Given the description of an element on the screen output the (x, y) to click on. 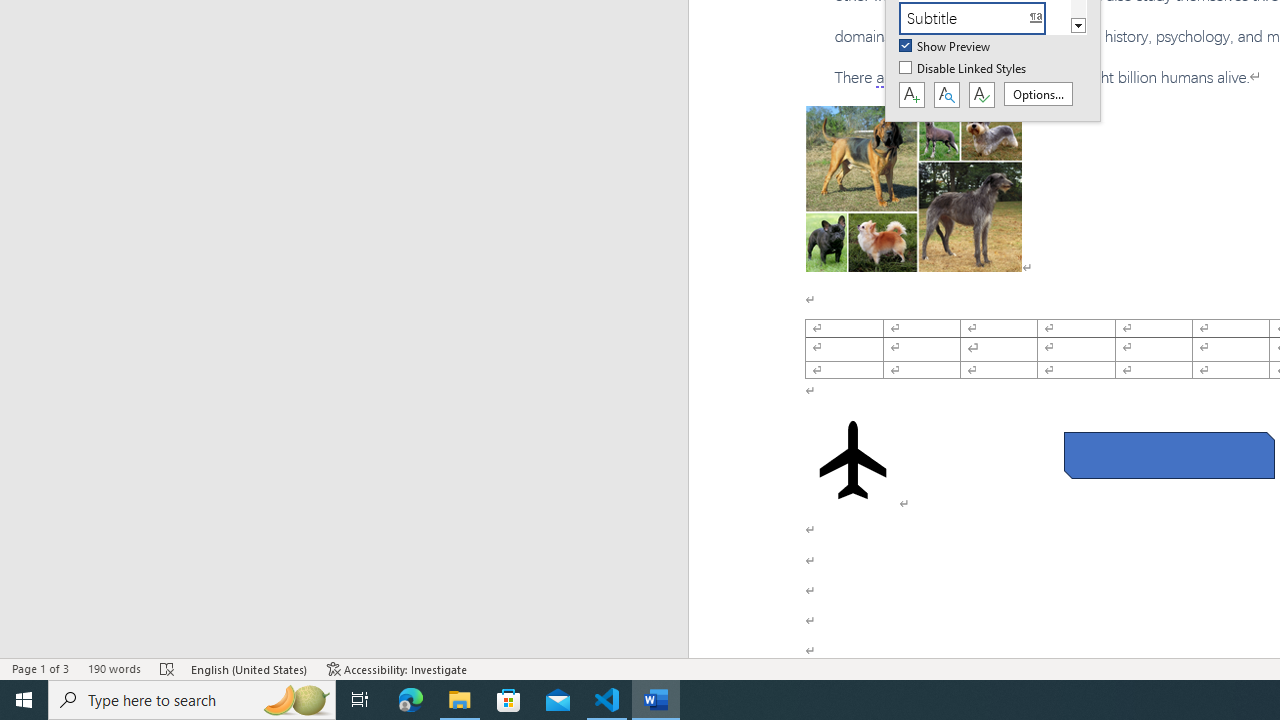
Page Number Page 1 of 3 (39, 668)
Airplane with solid fill (852, 459)
Show Preview (946, 47)
Disable Linked Styles (964, 69)
Rectangle: Diagonal Corners Snipped 2 (1168, 455)
Spelling and Grammar Check Errors (168, 668)
Accessibility Checker Accessibility: Investigate (397, 668)
Class: NetUIButton (981, 95)
Morphological variation in six dogs (913, 188)
Subtitle (984, 18)
Language English (United States) (250, 668)
Options... (1037, 93)
